Given the description of an element on the screen output the (x, y) to click on. 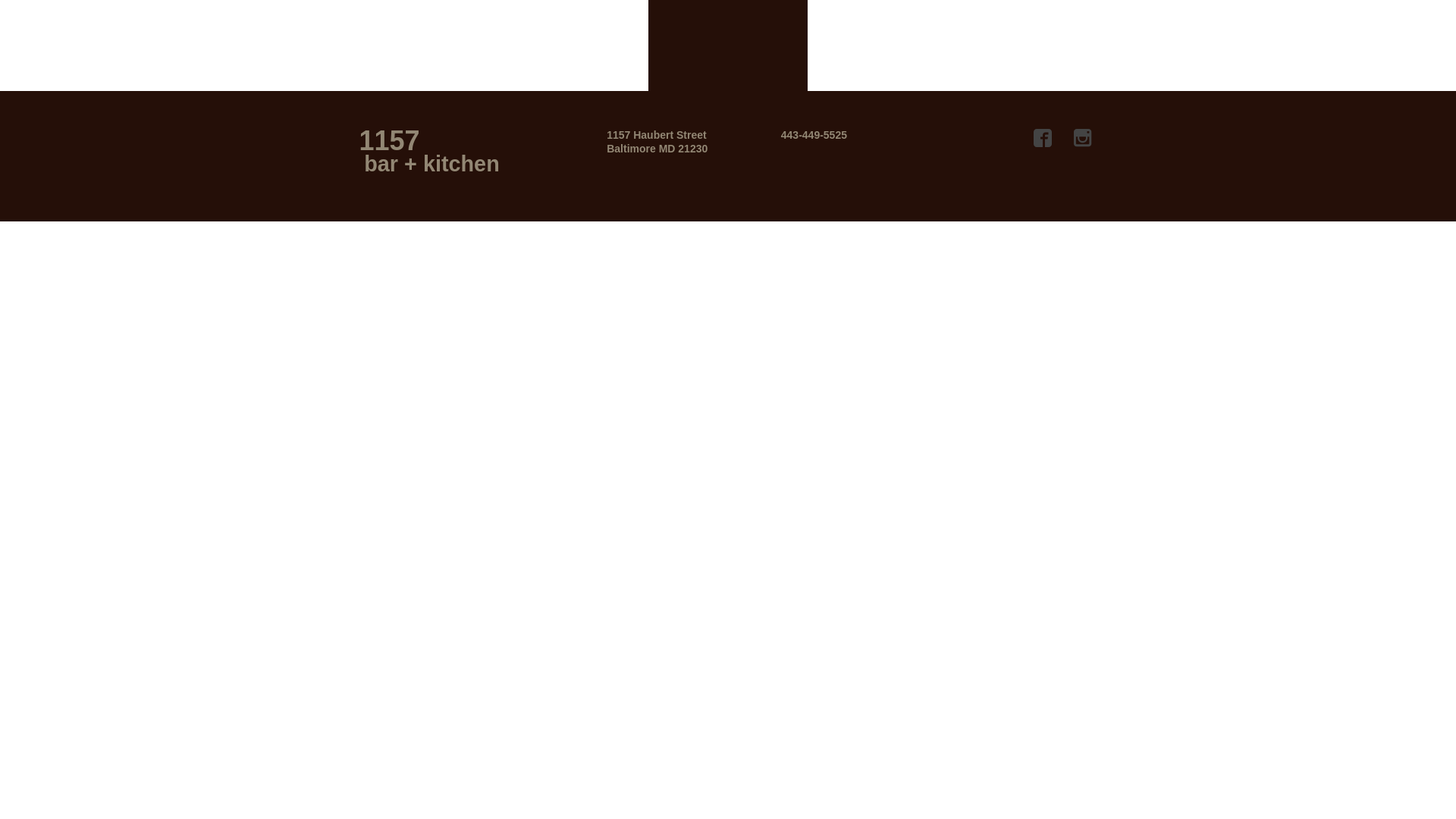
1157
bar + kitchen Element type: text (450, 154)
Facebook Element type: text (1042, 137)
1157 Haubert Street Baltimore MD 21230
443-449-5525 Element type: text (726, 135)
Instagram Element type: text (1082, 137)
